Given the description of an element on the screen output the (x, y) to click on. 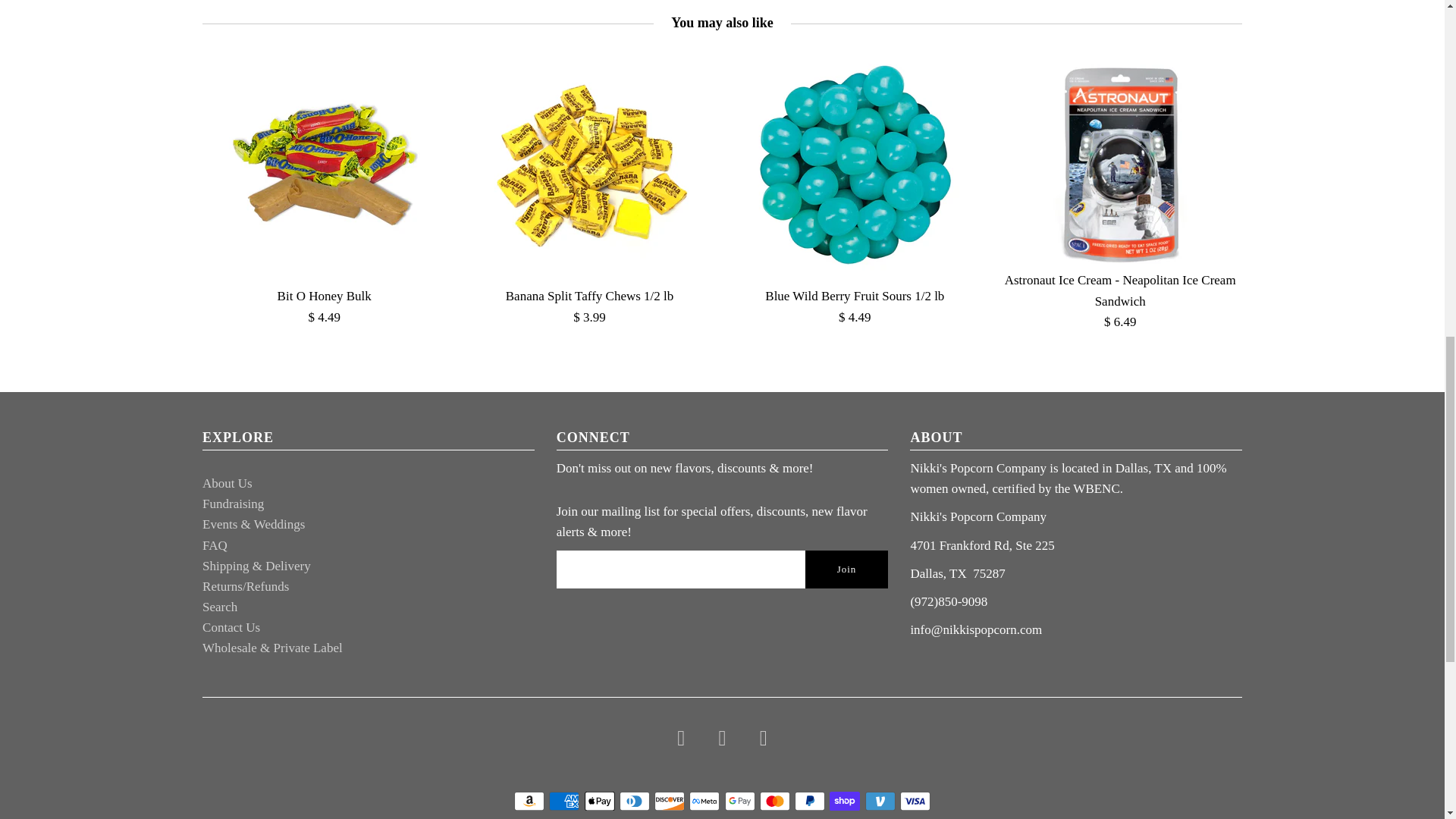
Visa (914, 800)
Join (846, 569)
Apple Pay (599, 800)
Amazon (528, 800)
Diners Club (634, 800)
PayPal (809, 800)
American Express (563, 800)
Discover (668, 800)
Shop Pay (844, 800)
Venmo (879, 800)
Google Pay (740, 800)
Meta Pay (703, 800)
Mastercard (775, 800)
